Given the description of an element on the screen output the (x, y) to click on. 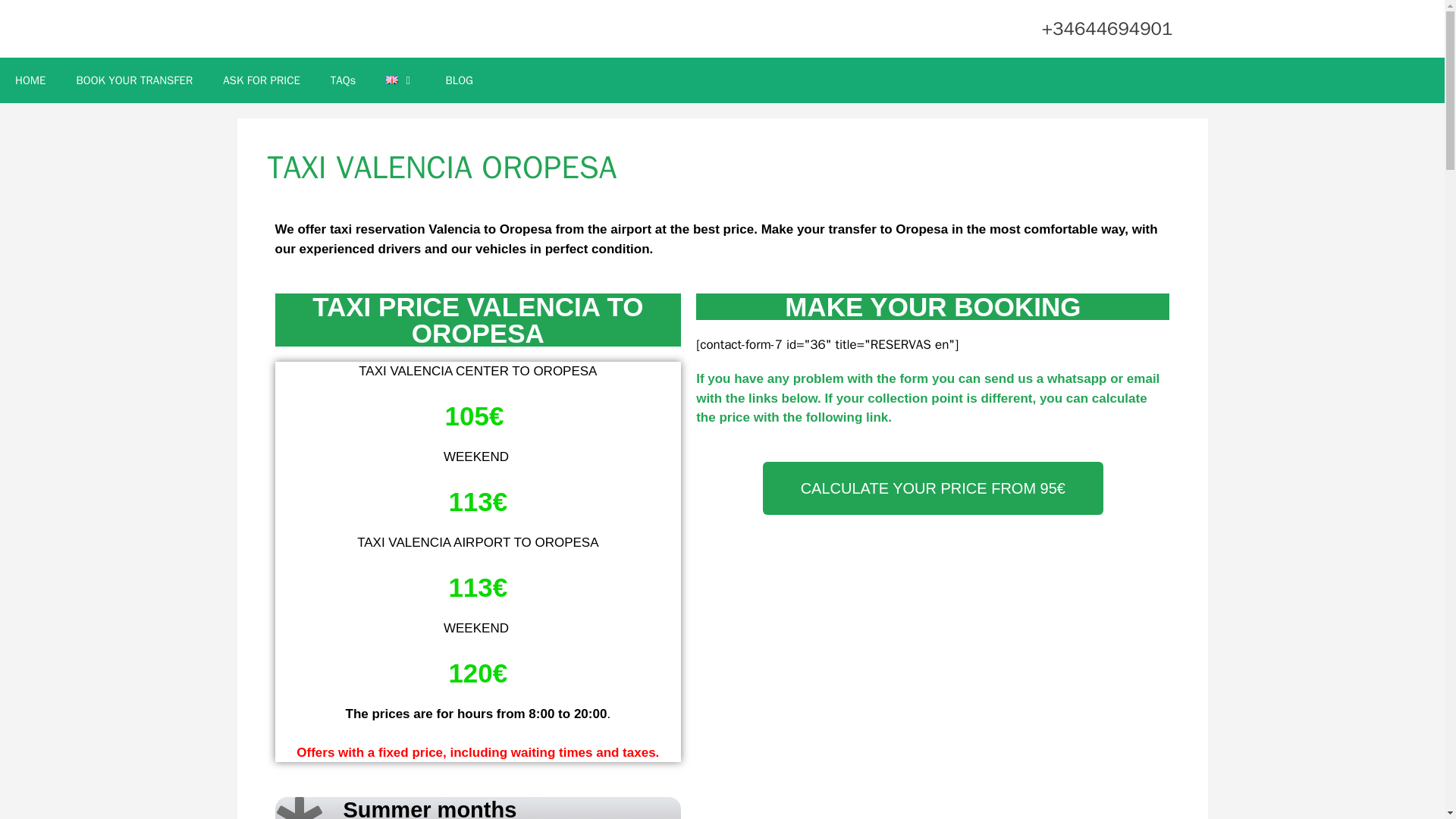
HOME (30, 80)
ASK FOR PRICE (261, 80)
BLOG (458, 80)
TAQs (343, 80)
BOOK YOUR TRANSFER (134, 80)
